Given the description of an element on the screen output the (x, y) to click on. 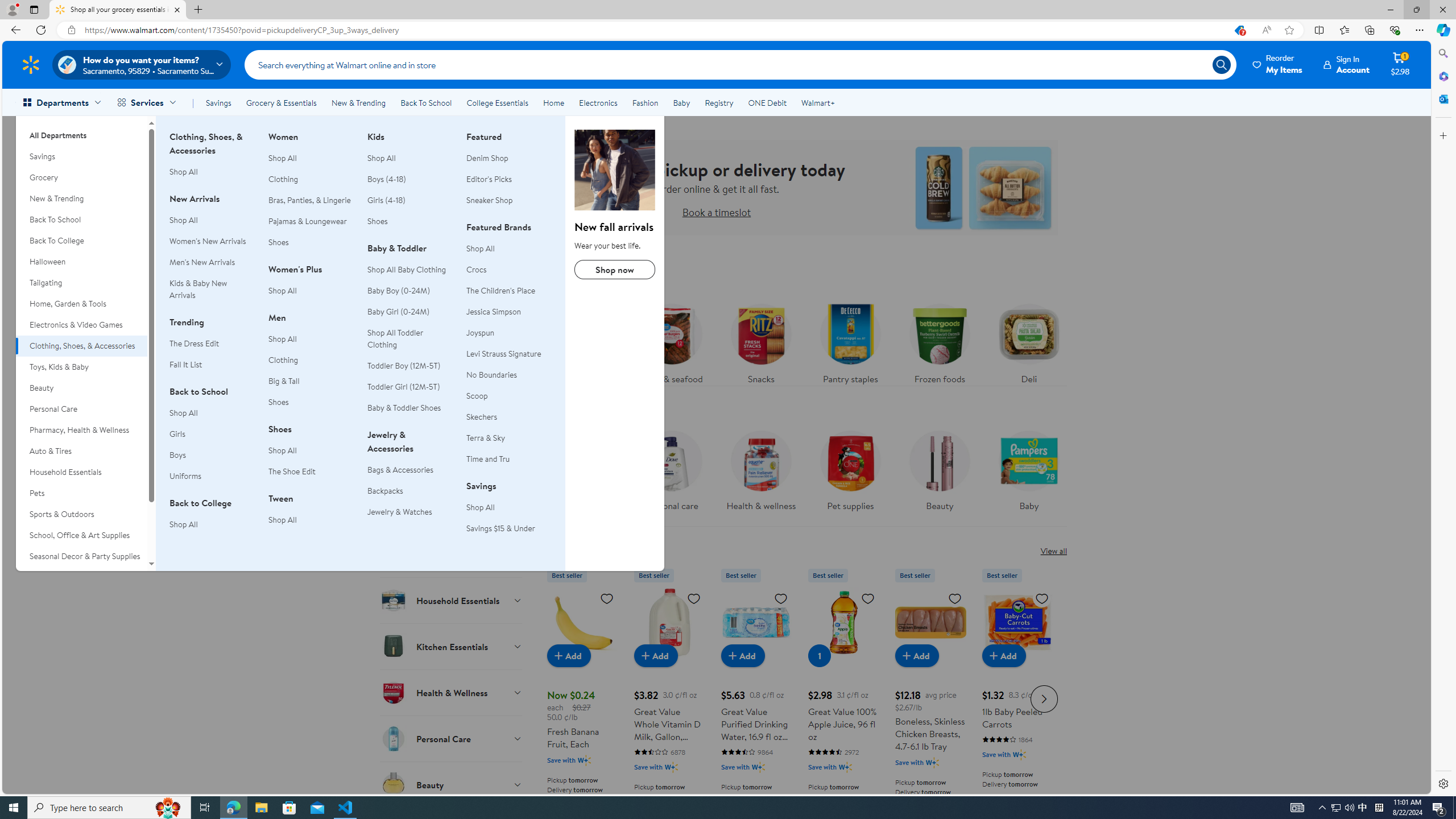
Great Value 100% Apple Juice, 96 fl oz (843, 621)
Boneless, Skinless Chicken Breasts, 4.7-6.1 lb Tray (930, 621)
Denim Shop (486, 157)
Shop All (480, 506)
Back to CollegeShop All (211, 520)
Boys (4-18) (386, 179)
Terra & Sky (508, 437)
Walmart Plus (1018, 754)
Search icon (1220, 64)
Registry (718, 102)
SavingsShop AllSavings $15 & Under (508, 513)
The Children's Place (500, 290)
